Given the description of an element on the screen output the (x, y) to click on. 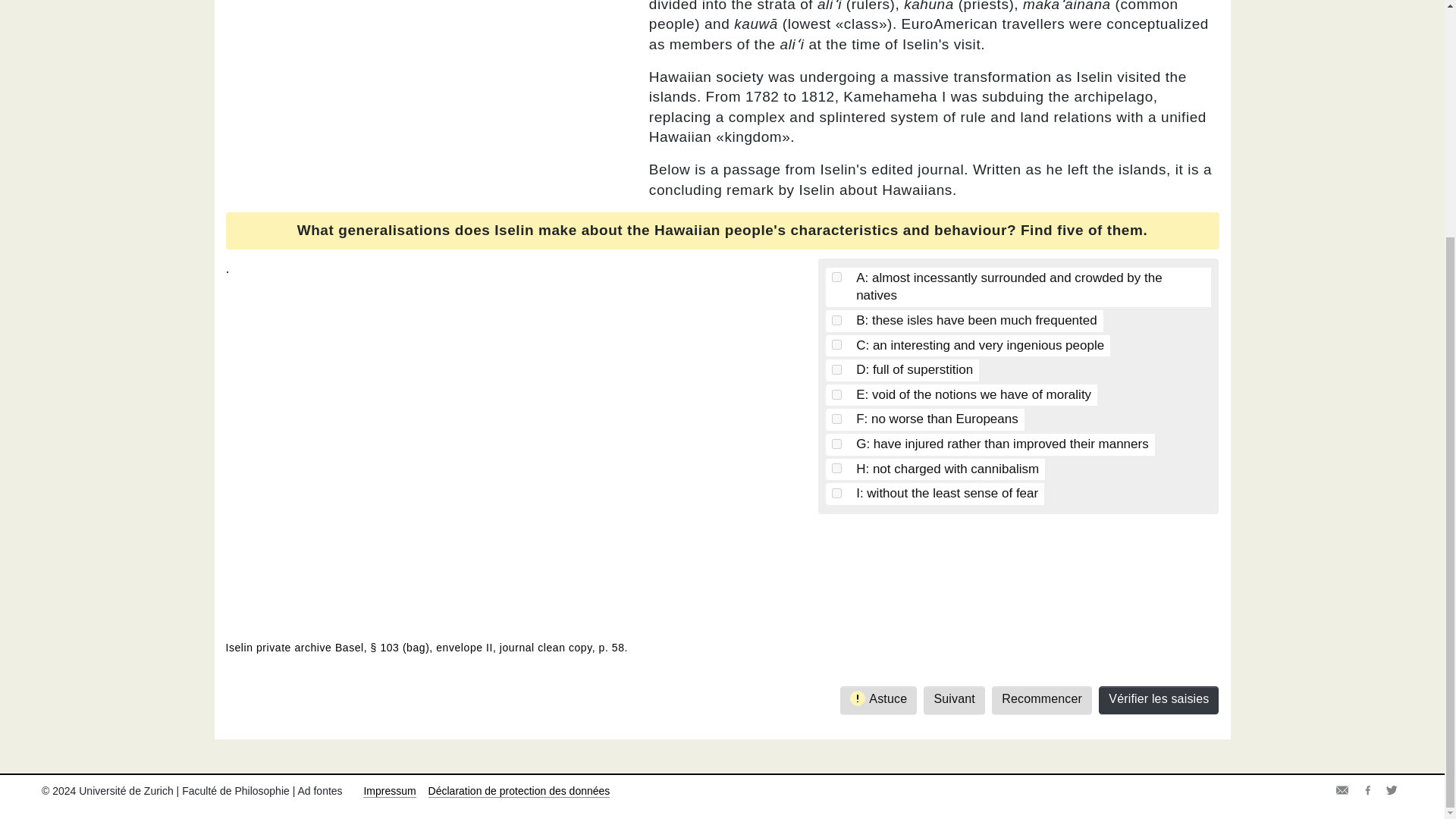
1 (836, 344)
1 (836, 320)
1 (836, 492)
1 (836, 468)
1 (836, 394)
1 (836, 276)
1 (836, 419)
1 (836, 443)
1 (836, 369)
